Given the description of an element on the screen output the (x, y) to click on. 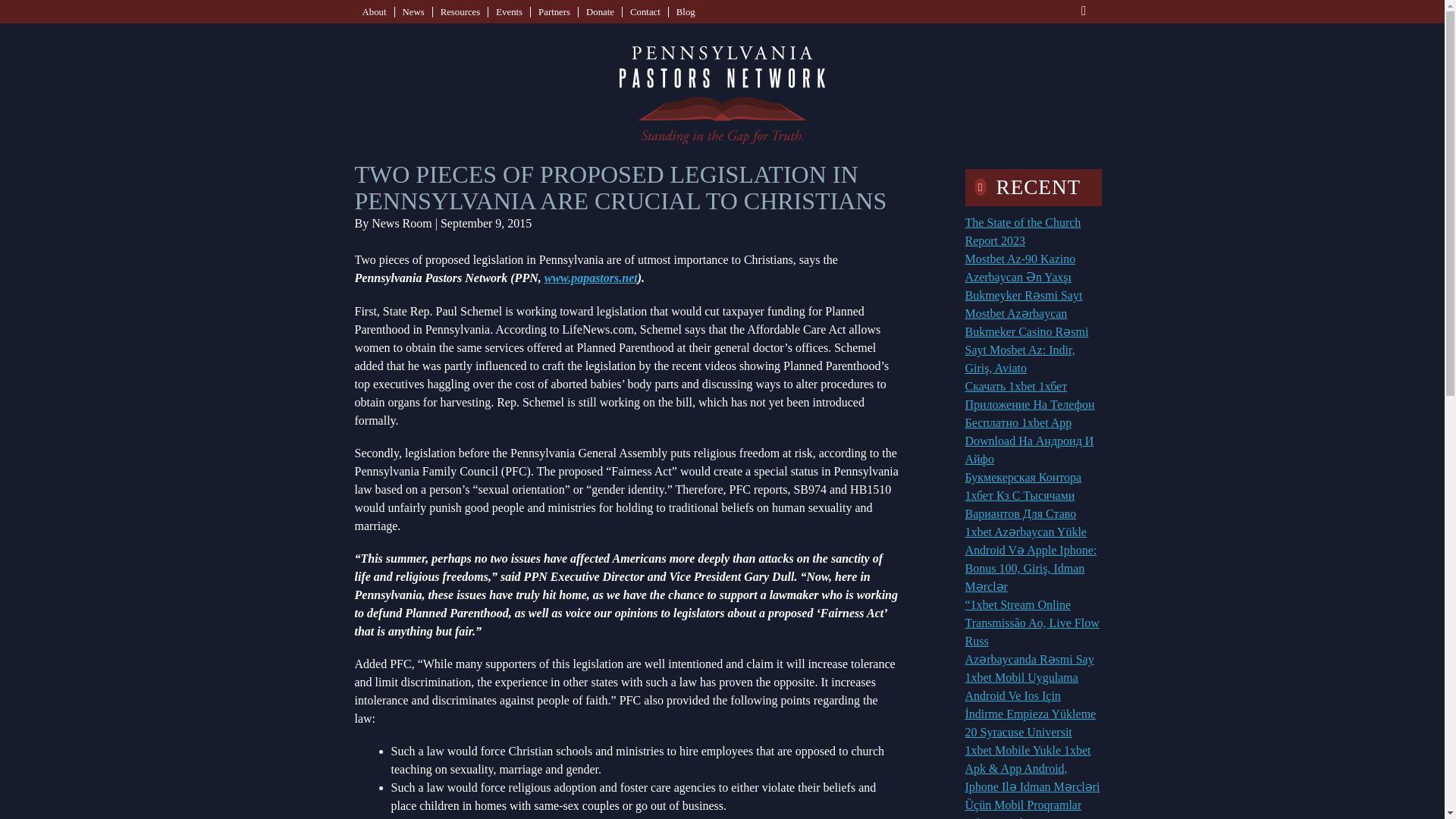
Partners (554, 11)
Events (509, 11)
The State of the Church Report 2023 (1021, 231)
News (412, 11)
www.papastors.net (590, 277)
Resources (460, 11)
Blog (686, 11)
About (374, 11)
Donate (600, 11)
Contact (645, 11)
